Given the description of an element on the screen output the (x, y) to click on. 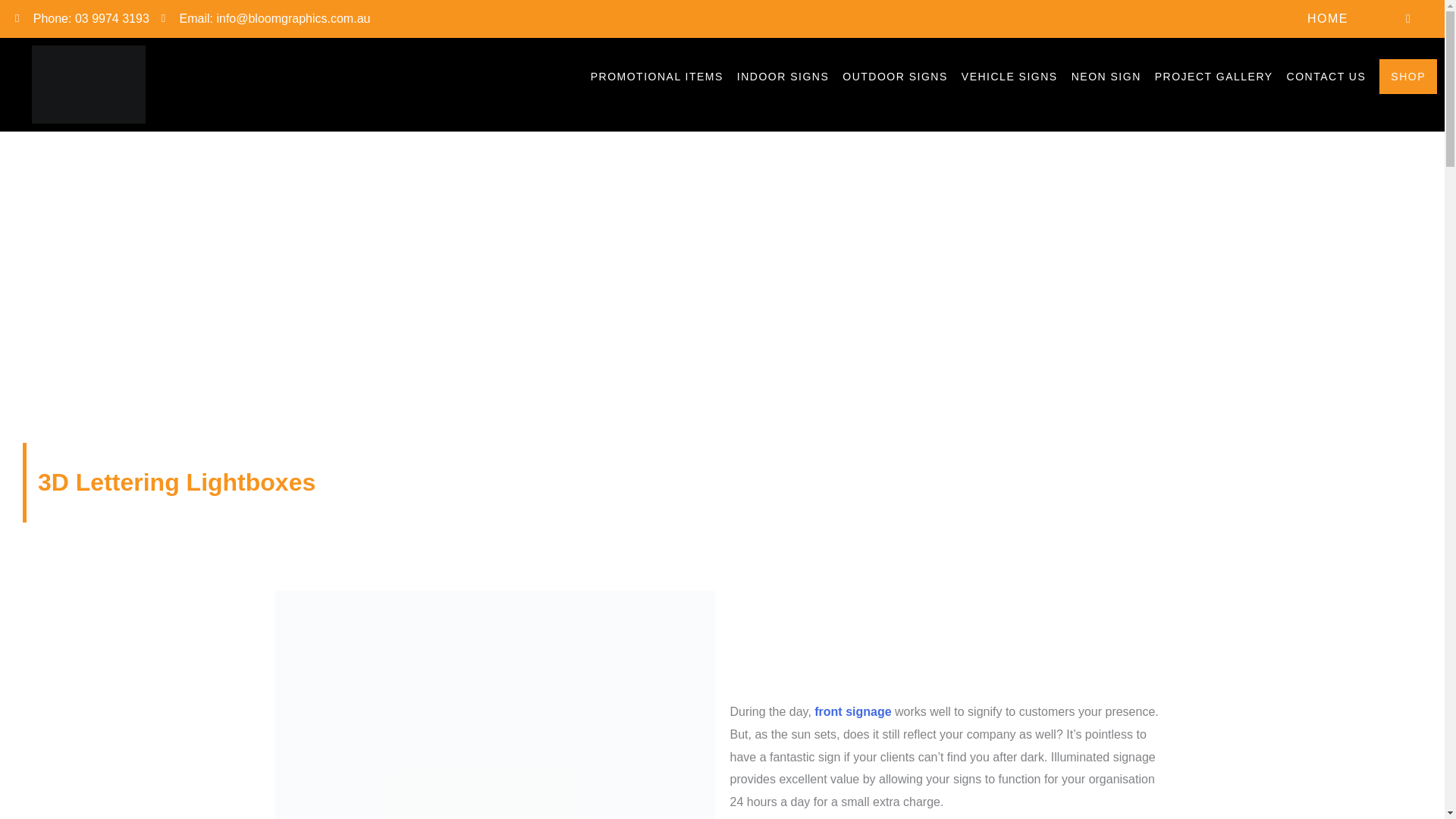
PROJECT GALLERY (1213, 76)
Phone: 03 9974 3193 (81, 18)
PROMOTIONAL ITEMS (657, 76)
VEHICLE SIGNS (1009, 76)
HOME (1327, 18)
CONTACT US (1327, 76)
INDOOR SIGNS (782, 76)
NEON SIGN (1106, 76)
OUTDOOR SIGNS (895, 76)
